Given the description of an element on the screen output the (x, y) to click on. 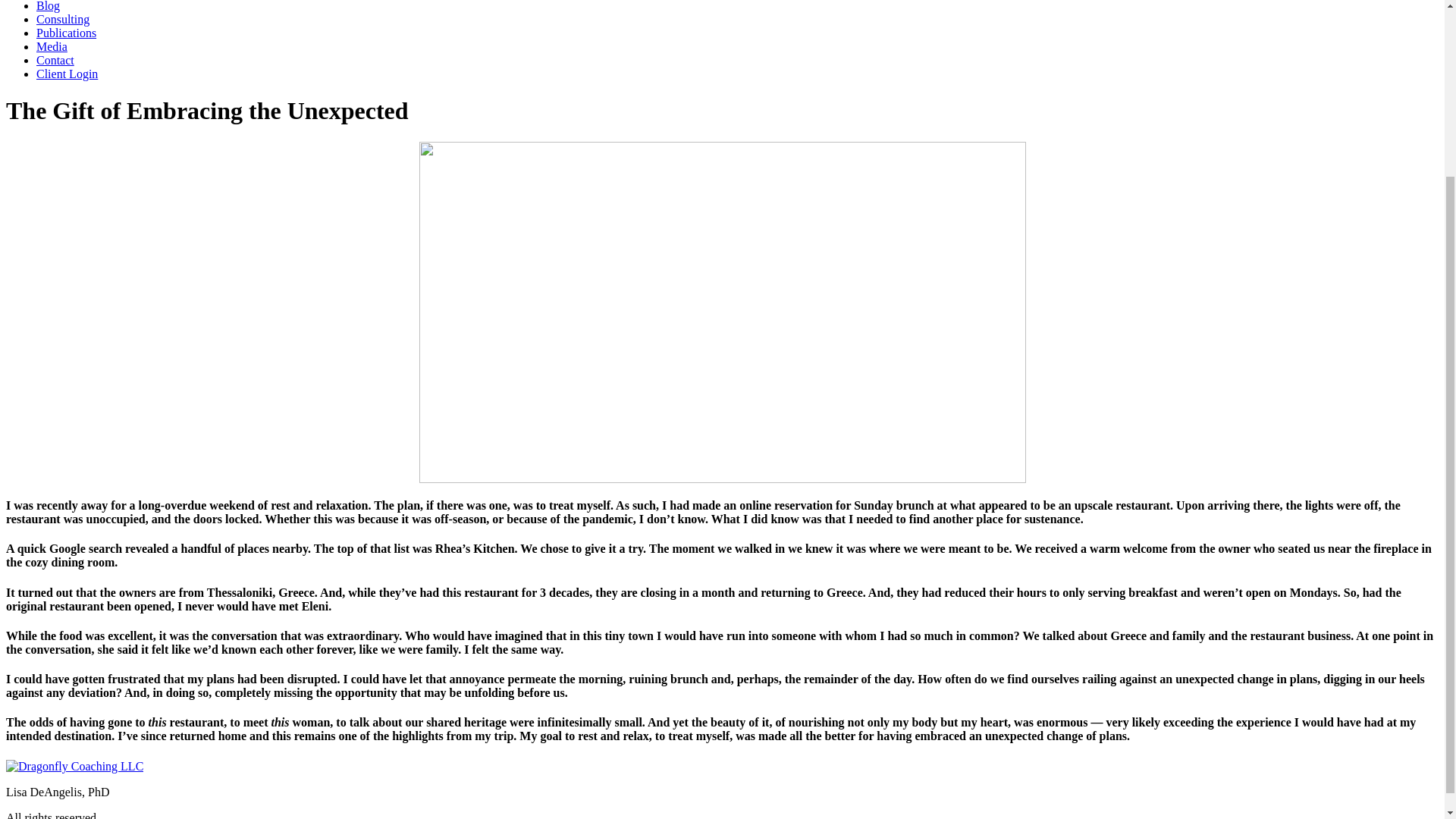
Publications (66, 32)
Client Login (66, 73)
Contact (55, 60)
Blog (47, 6)
Consulting (62, 19)
Media (51, 46)
